Given the description of an element on the screen output the (x, y) to click on. 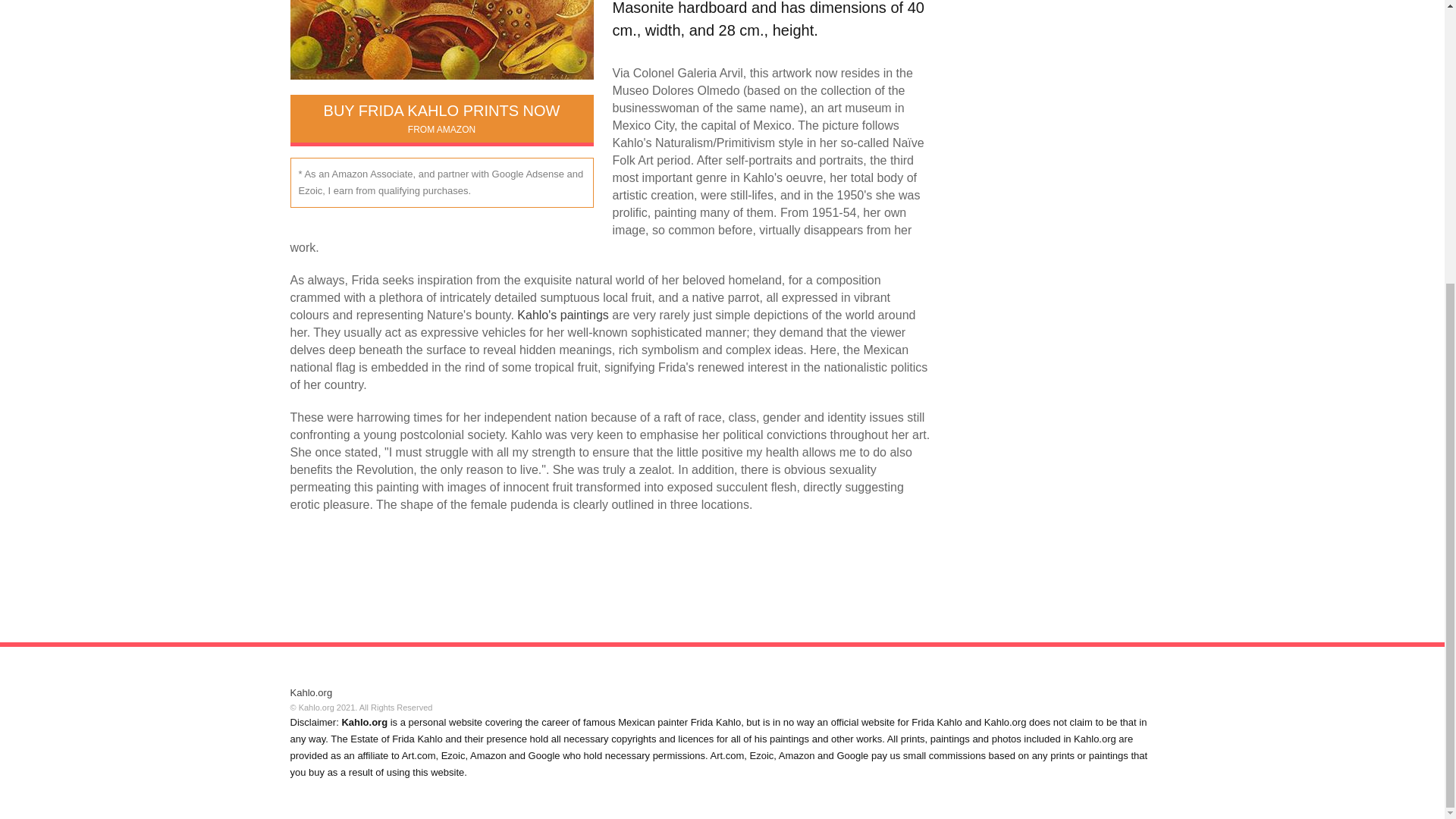
Kahlo.org (310, 692)
Kahlo's paintings (440, 118)
